Given the description of an element on the screen output the (x, y) to click on. 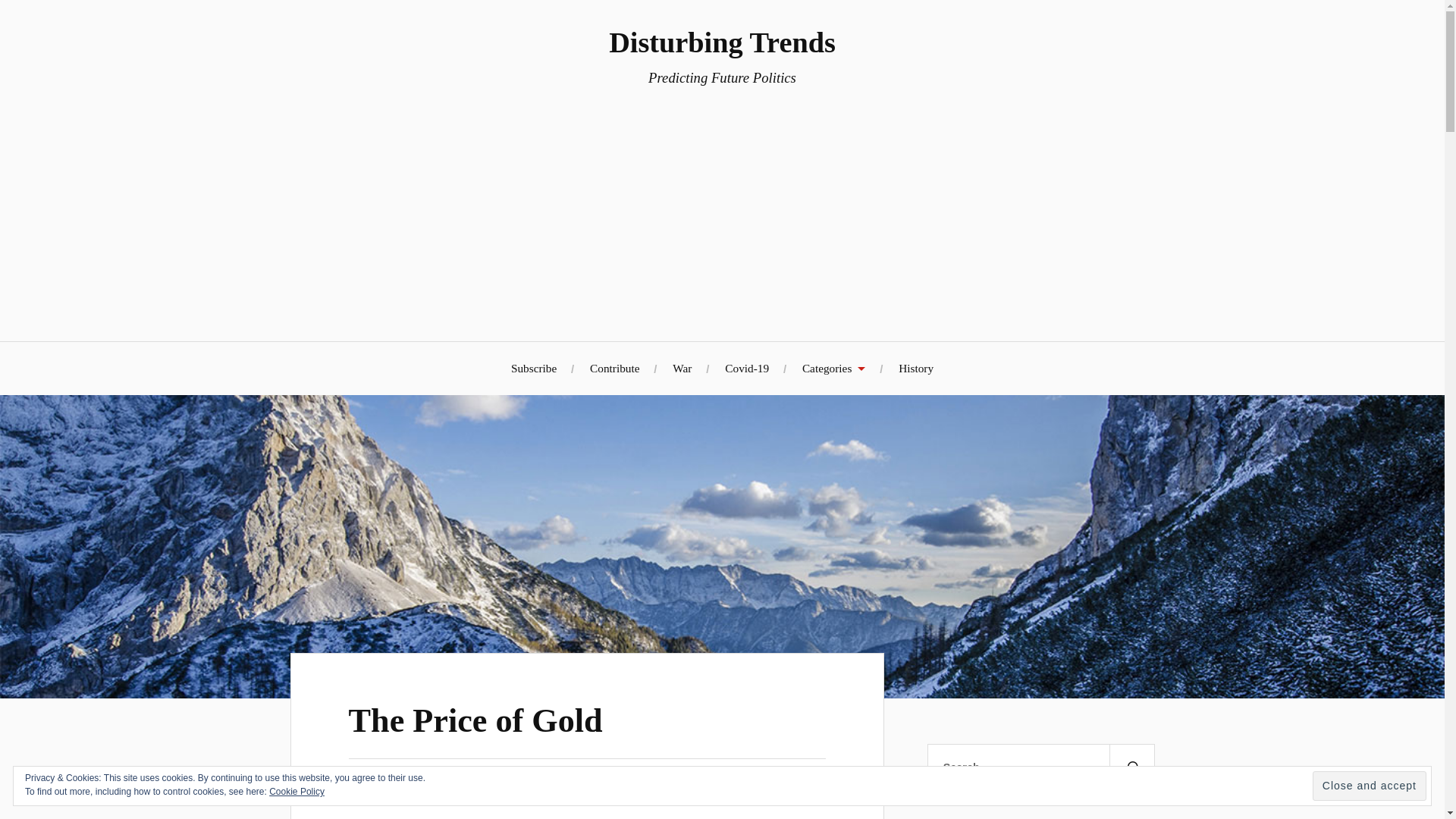
Close and accept (1369, 785)
NICHOLAS ALEXANDER (429, 784)
Search (1131, 767)
Disturbing Trends (721, 42)
Categories (833, 367)
Search for: (1040, 767)
Contribute (614, 367)
ECONOMICS (563, 784)
